Given the description of an element on the screen output the (x, y) to click on. 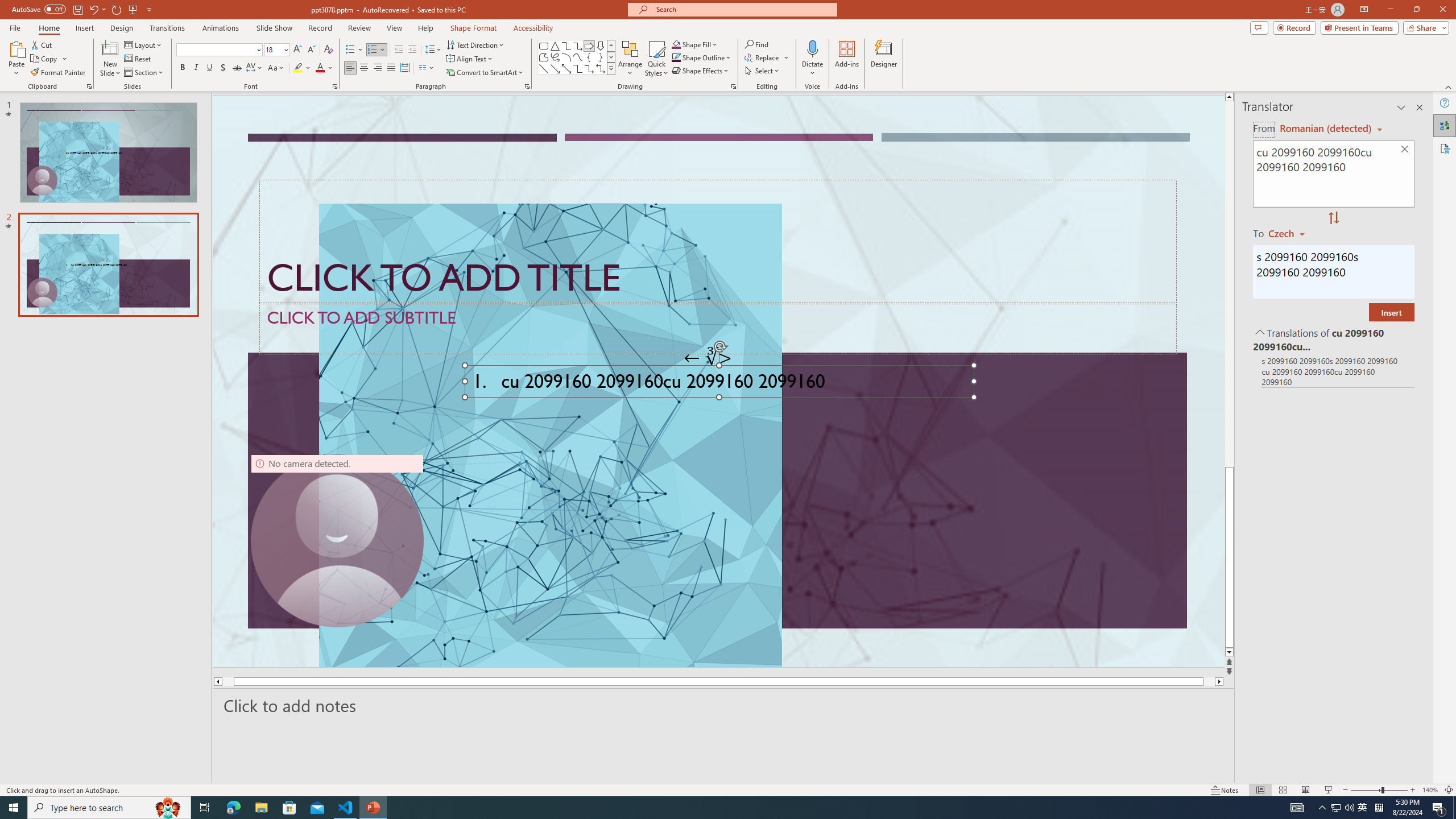
TextBox 61 (717, 383)
Line Arrow: Double (566, 68)
